Given the description of an element on the screen output the (x, y) to click on. 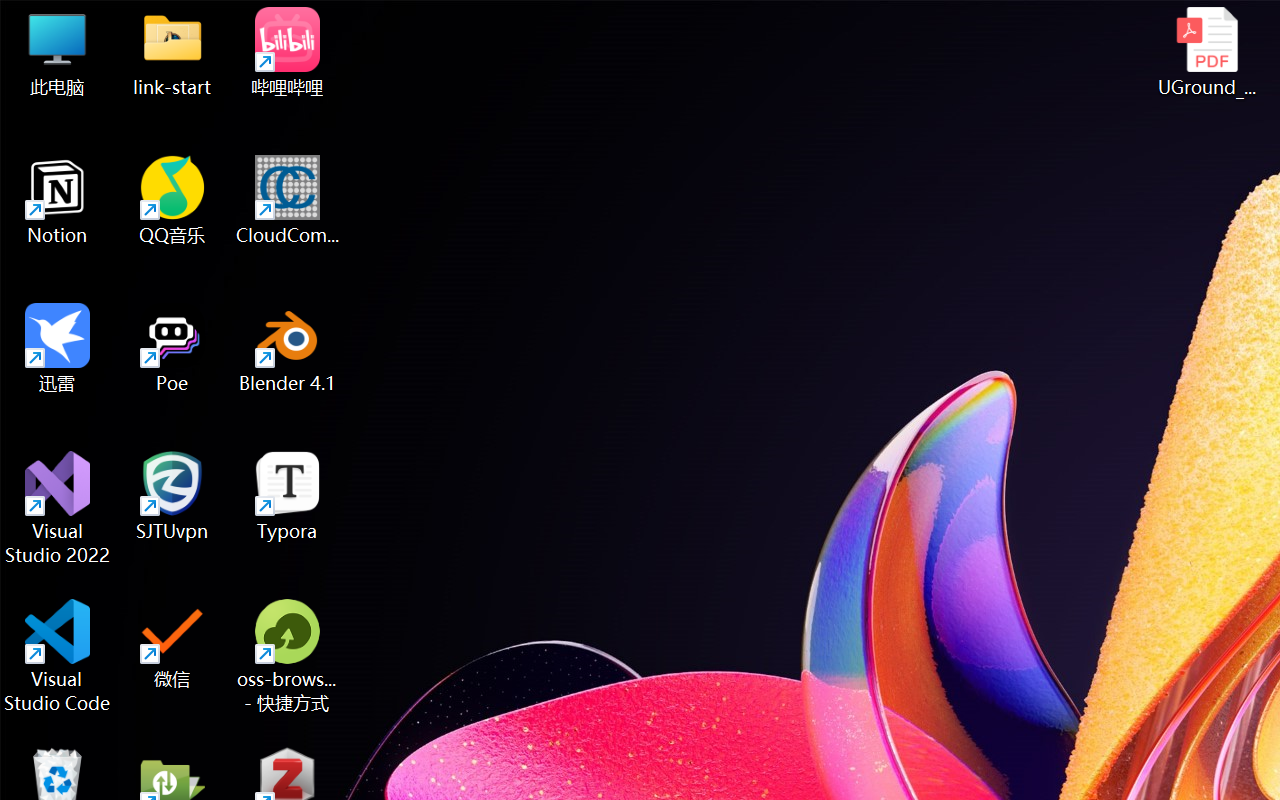
Typora (287, 496)
SJTUvpn (172, 496)
UGround_paper.pdf (1206, 52)
Visual Studio Code (57, 656)
CloudCompare (287, 200)
Blender 4.1 (287, 348)
Visual Studio 2022 (57, 508)
